Given the description of an element on the screen output the (x, y) to click on. 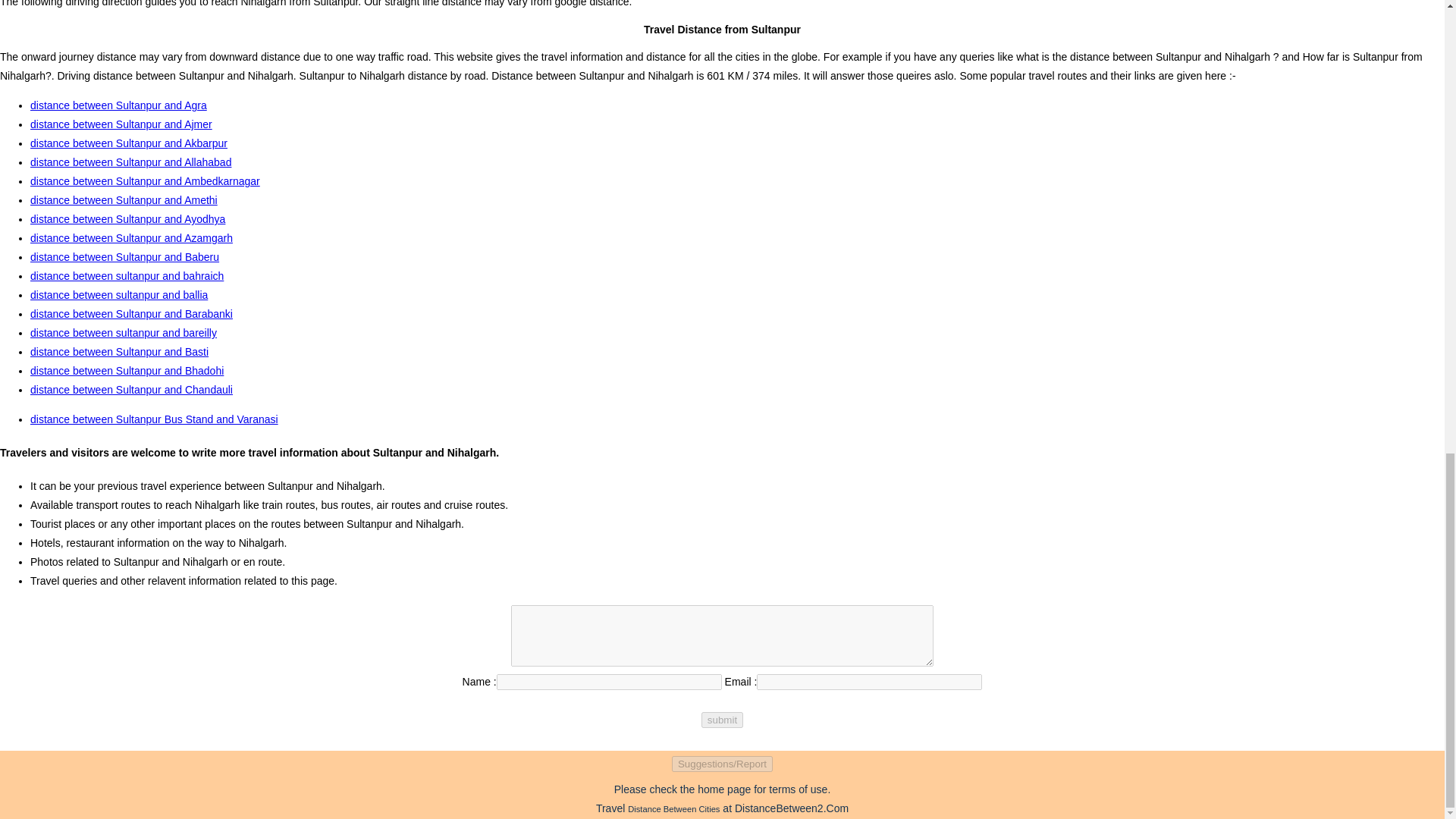
distance between Sultanpur and Allahabad (130, 162)
distance between sultanpur and bareilly (123, 332)
distance between Sultanpur and Agra (118, 105)
distance between Sultanpur and Ayodhya (127, 218)
distance between sultanpur and bahraich (127, 275)
distance between Sultanpur and Ambedkarnagar (145, 181)
distance between Sultanpur and Chandauli (131, 389)
Distance Between Cities (673, 809)
distance between Sultanpur and Bhadohi (127, 370)
distance between Sultanpur and Amethi (123, 200)
